Given the description of an element on the screen output the (x, y) to click on. 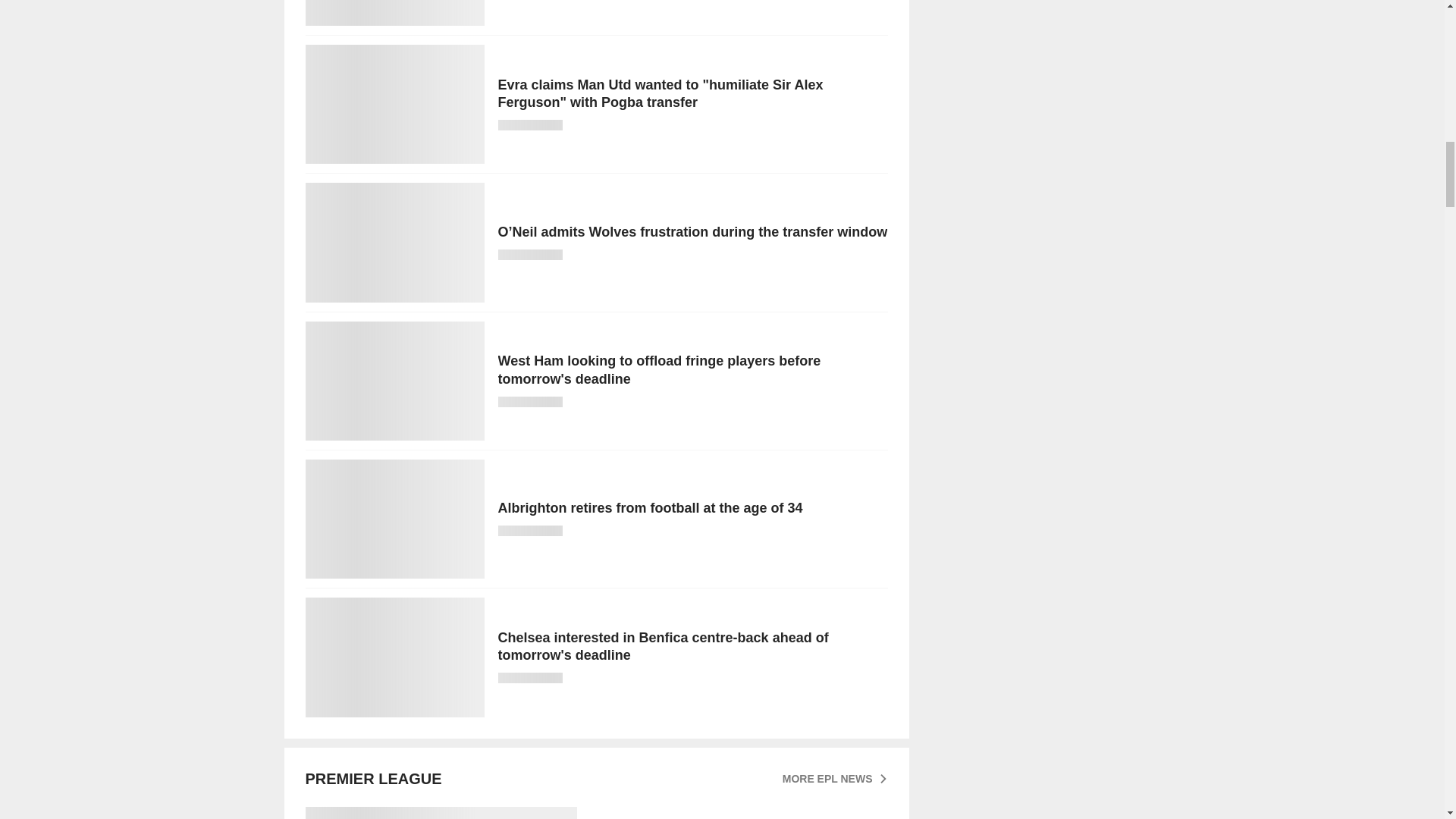
MORE EPL NEWS (835, 778)
Albrighton retires from football at the age of 34 (595, 518)
Albrighton retires from football at the age of 34 (595, 518)
